Given the description of an element on the screen output the (x, y) to click on. 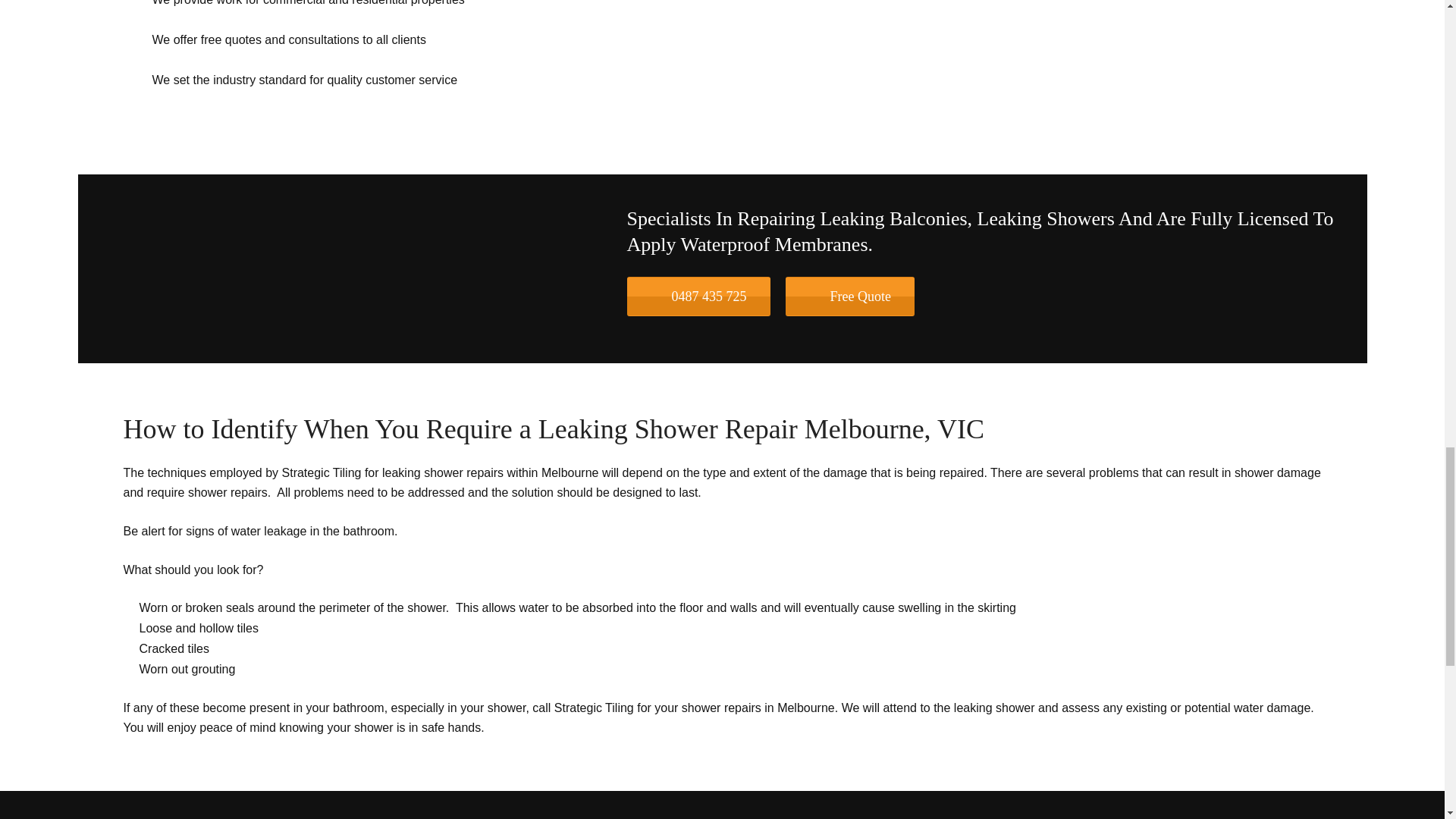
0487 435 725 (698, 296)
Free Quote (850, 296)
